Given the description of an element on the screen output the (x, y) to click on. 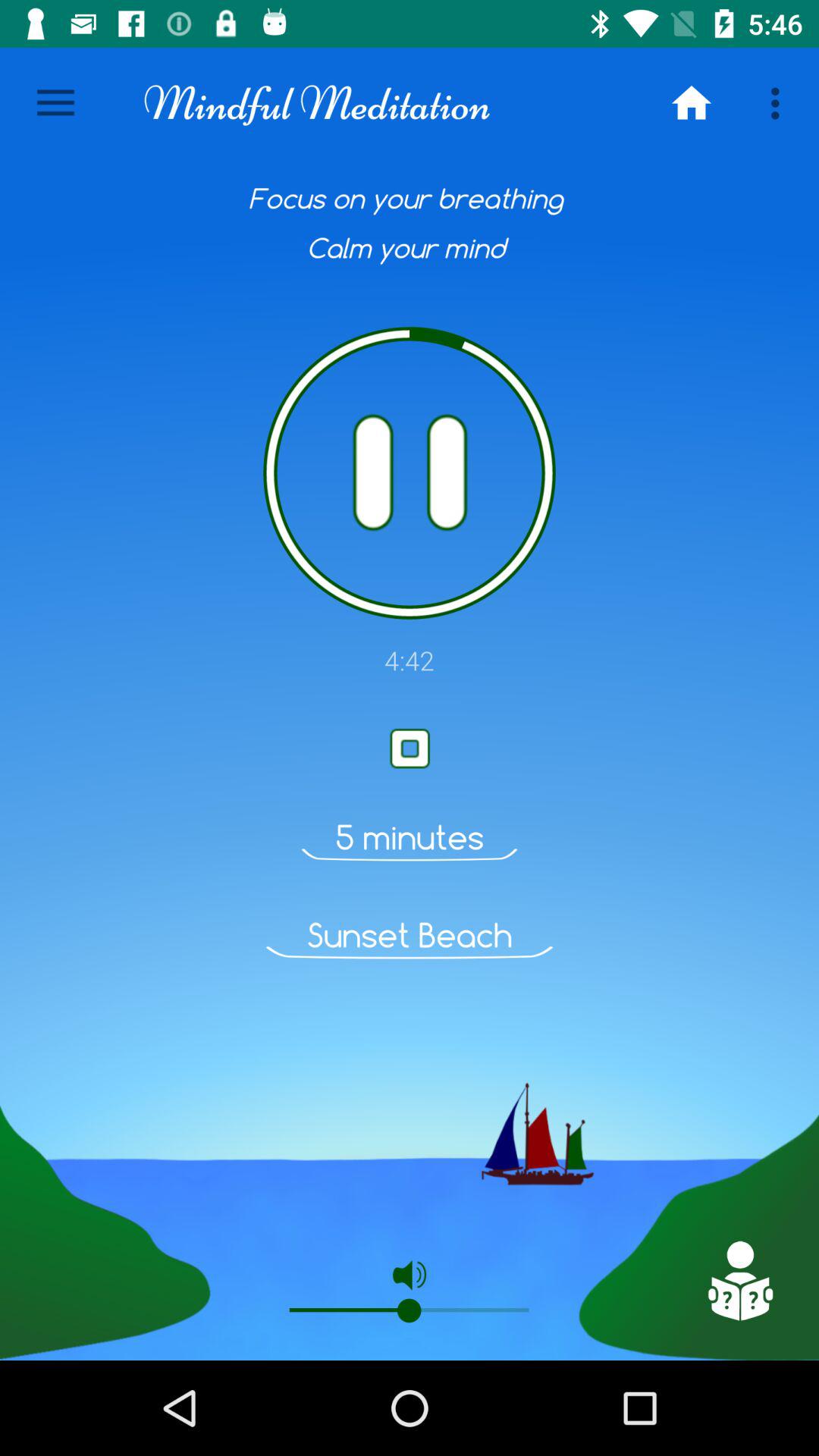
choose the icon next to mindful meditation (55, 103)
